Given the description of an element on the screen output the (x, y) to click on. 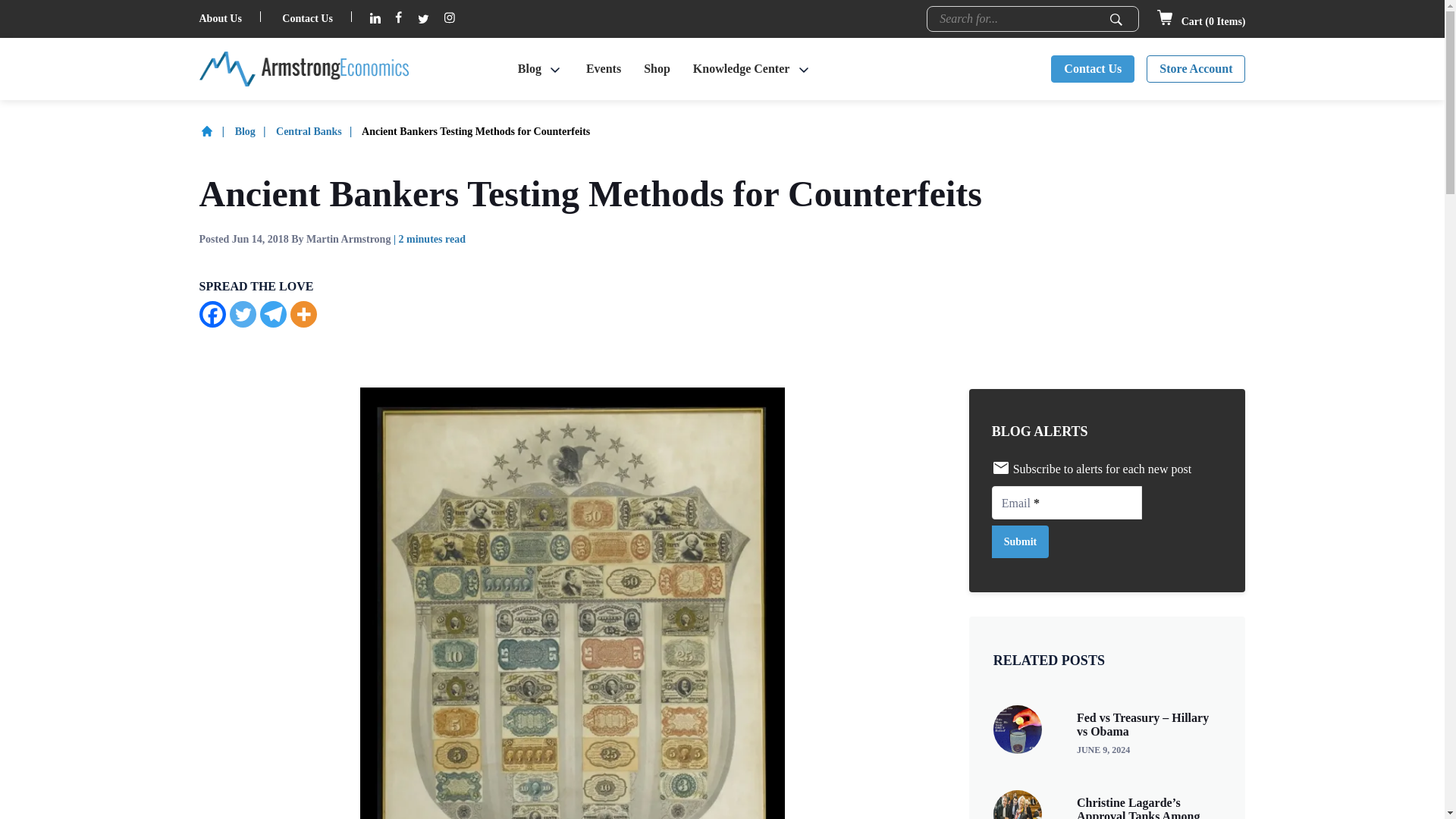
Central Banks (317, 131)
About Us (219, 18)
Blog (529, 69)
Shop (656, 69)
Knowledge Center (741, 69)
Submit (1116, 19)
Submit (1116, 19)
Twitter (242, 314)
Telegram (272, 314)
Click to see more social options (302, 314)
